Given the description of an element on the screen output the (x, y) to click on. 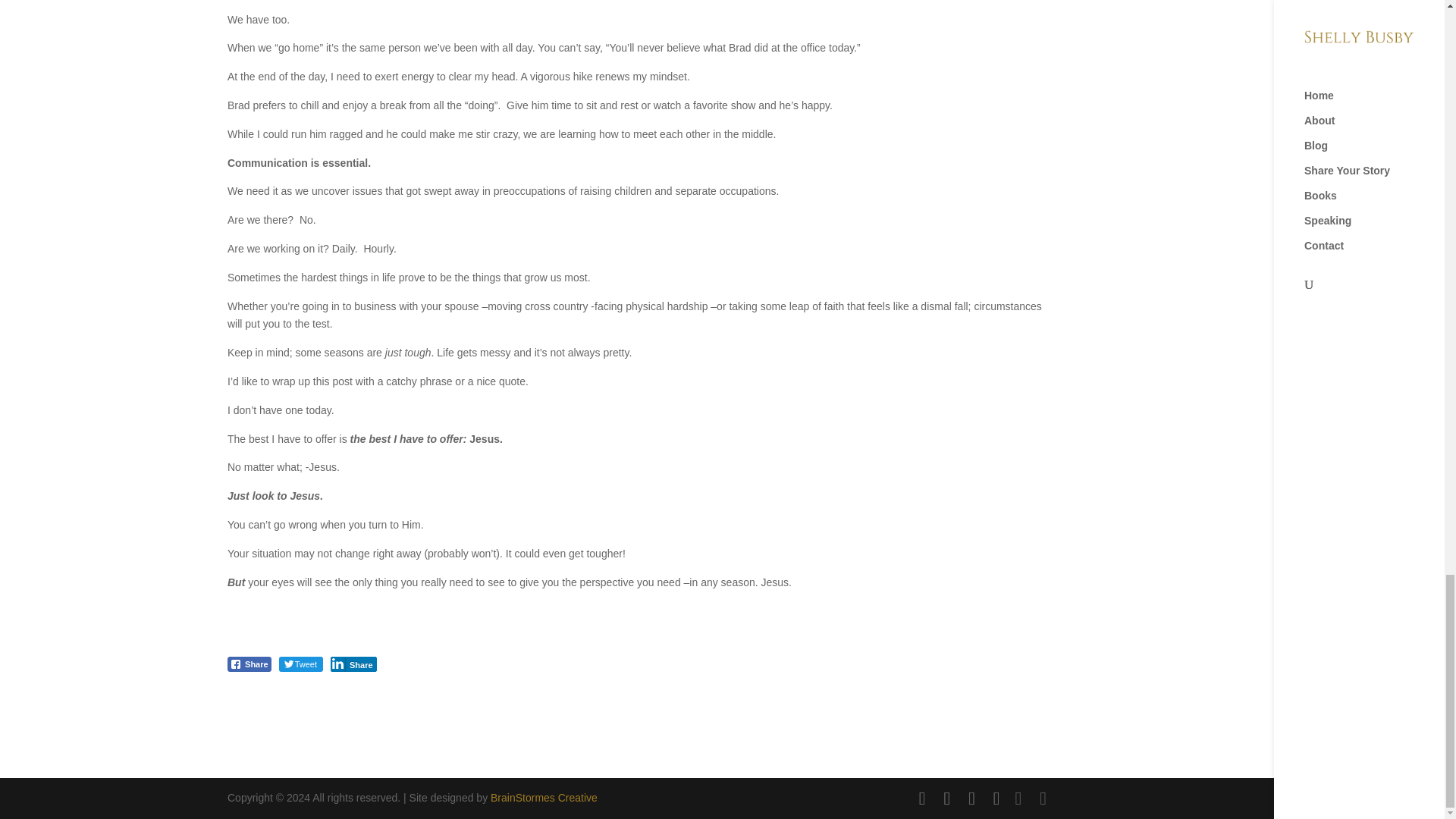
Tweet (301, 663)
BrainStormes Creative (543, 797)
Share (353, 663)
Share (248, 663)
